Given the description of an element on the screen output the (x, y) to click on. 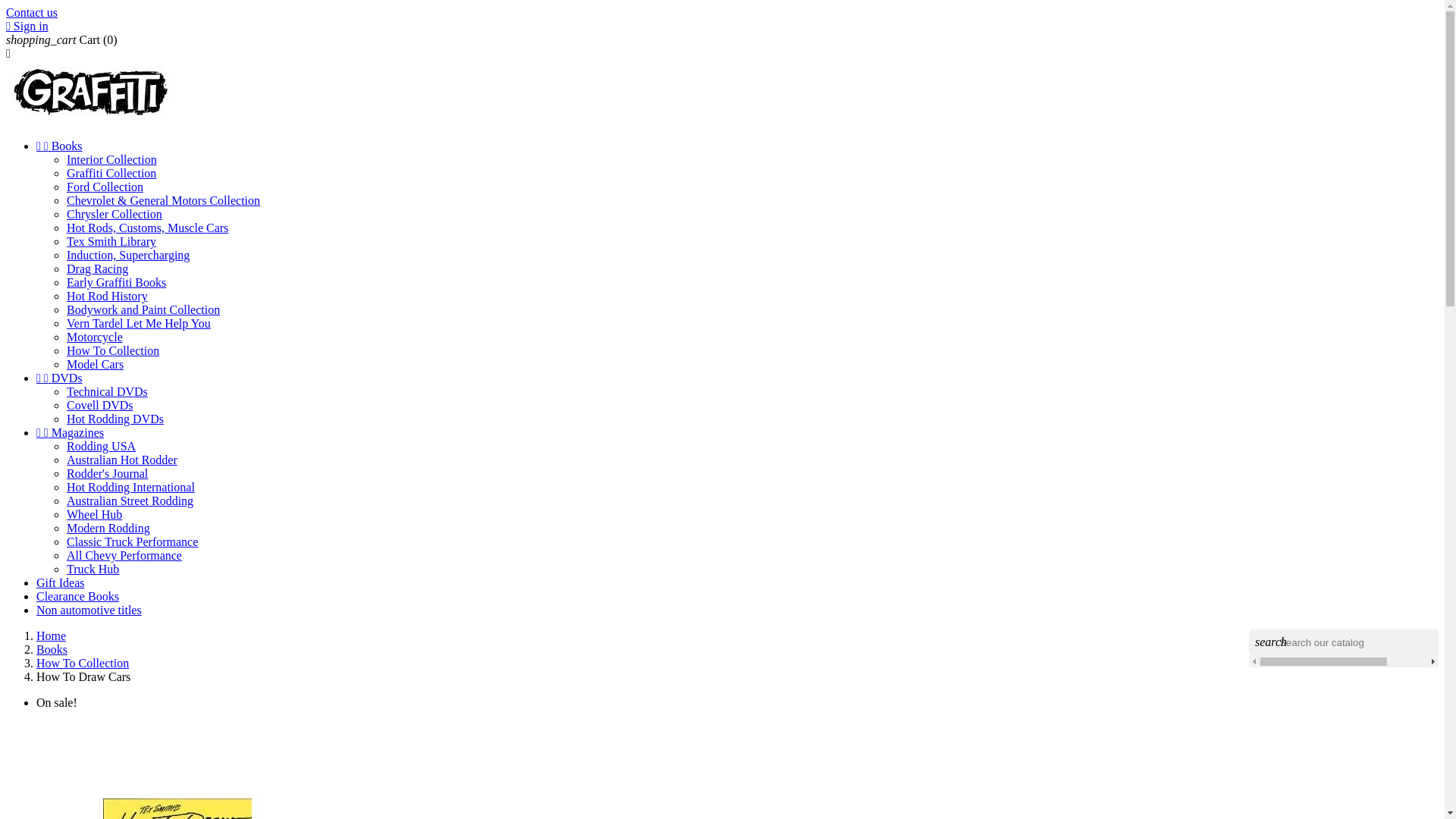
How To Collection Element type: text (82, 662)
Books Element type: text (51, 649)
Hot Rodding DVDs Element type: text (114, 418)
Gift Ideas Element type: text (60, 582)
Early Graffiti Books Element type: text (116, 282)
Model Cars Element type: text (94, 363)
Ford Collection Element type: text (104, 186)
Australian Street Rodding Element type: text (129, 500)
Induction, Supercharging Element type: text (127, 254)
How To Collection Element type: text (112, 350)
Home Element type: text (50, 635)
Covell DVDs Element type: text (99, 404)
Hot Rodding International Element type: text (130, 486)
Rodder's Journal Element type: text (106, 473)
Technical DVDs Element type: text (106, 391)
Truck Hub Element type: text (92, 568)
Modern Rodding Element type: text (108, 527)
Graffiti Collection Element type: text (111, 172)
Wheel Hub Element type: text (94, 514)
Interior Collection Element type: text (111, 159)
Motorcycle Element type: text (94, 336)
Vern Tardel Let Me Help You Element type: text (138, 322)
Rodding USA Element type: text (100, 445)
Hot Rods, Customs, Muscle Cars Element type: text (147, 227)
Contact us Element type: text (31, 12)
Drag Racing Element type: text (97, 268)
Chrysler Collection Element type: text (114, 213)
Bodywork and Paint Collection Element type: text (142, 309)
Non automotive titles Element type: text (88, 609)
Tex Smith Library Element type: text (111, 241)
Australian Hot Rodder Element type: text (121, 459)
Clearance Books Element type: text (77, 595)
Chevrolet & General Motors Collection Element type: text (163, 200)
Hot Rod History Element type: text (106, 295)
All Chevy Performance Element type: text (124, 555)
Classic Truck Performance Element type: text (131, 541)
